Given the description of an element on the screen output the (x, y) to click on. 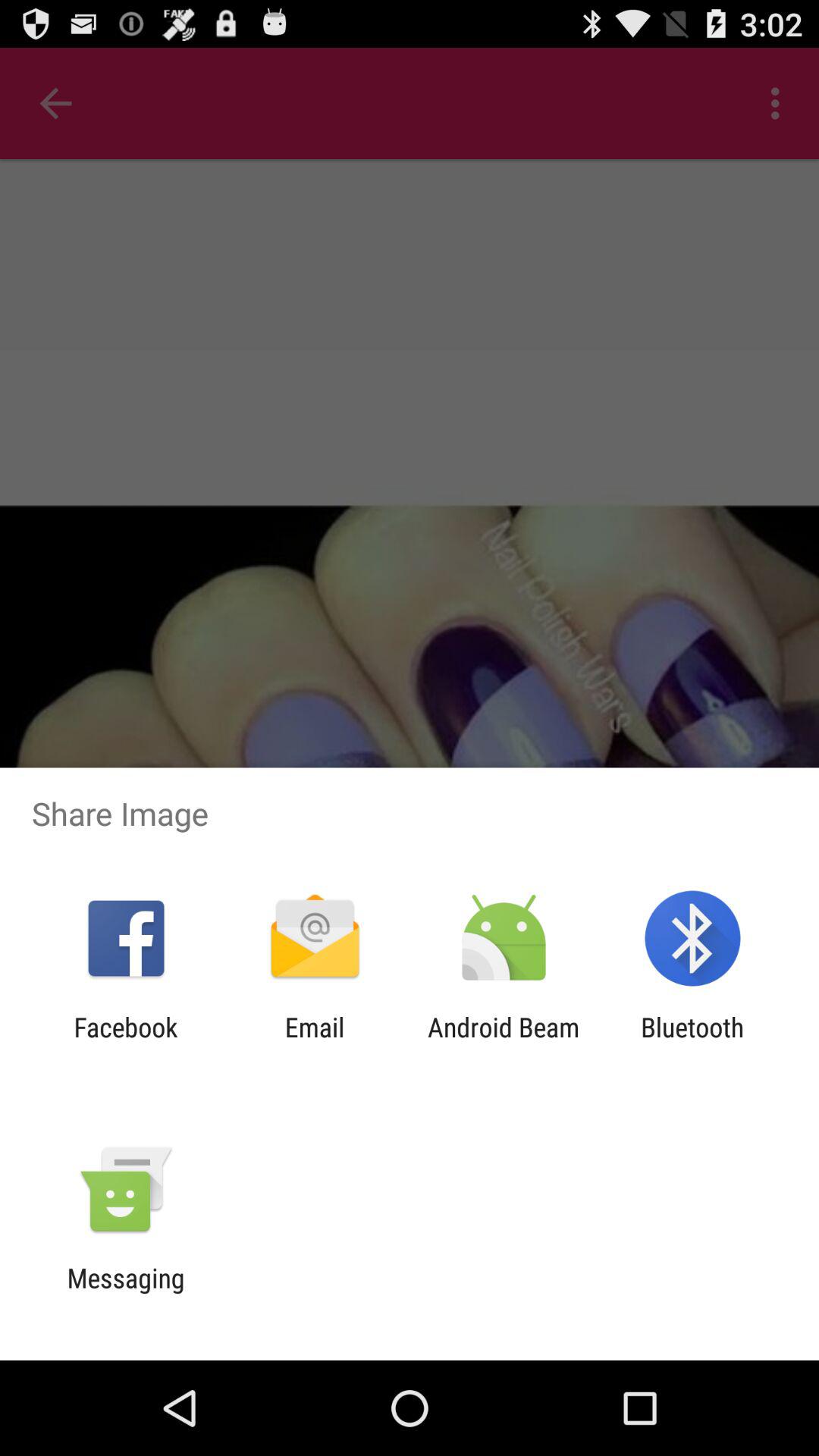
launch icon to the left of bluetooth (503, 1042)
